Given the description of an element on the screen output the (x, y) to click on. 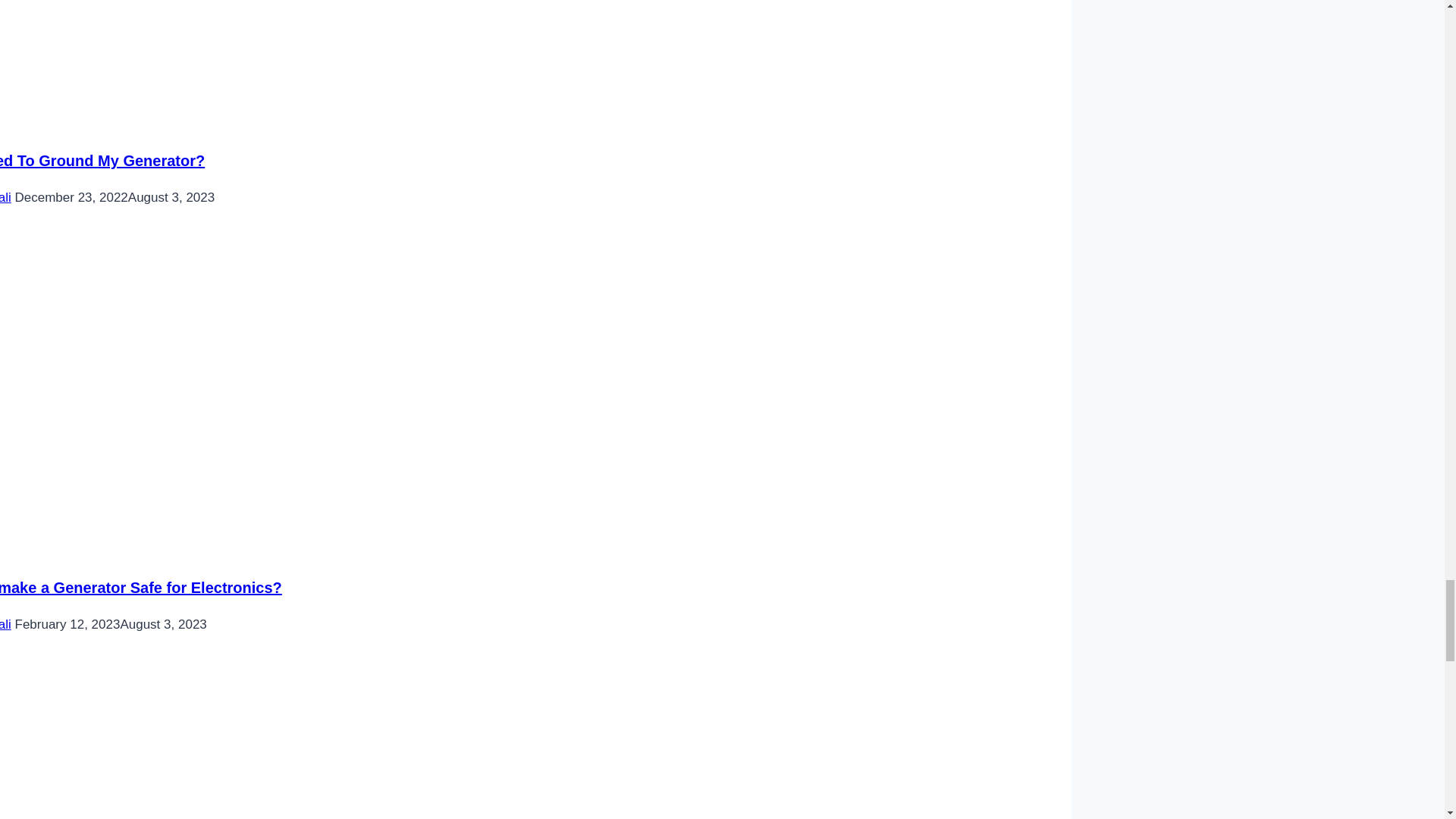
Do I Need To Ground My Generator? (102, 160)
What Is The Best Battery For A Standby Generator? (250, 739)
Do I Need To Ground My Generator? (250, 54)
